Given the description of an element on the screen output the (x, y) to click on. 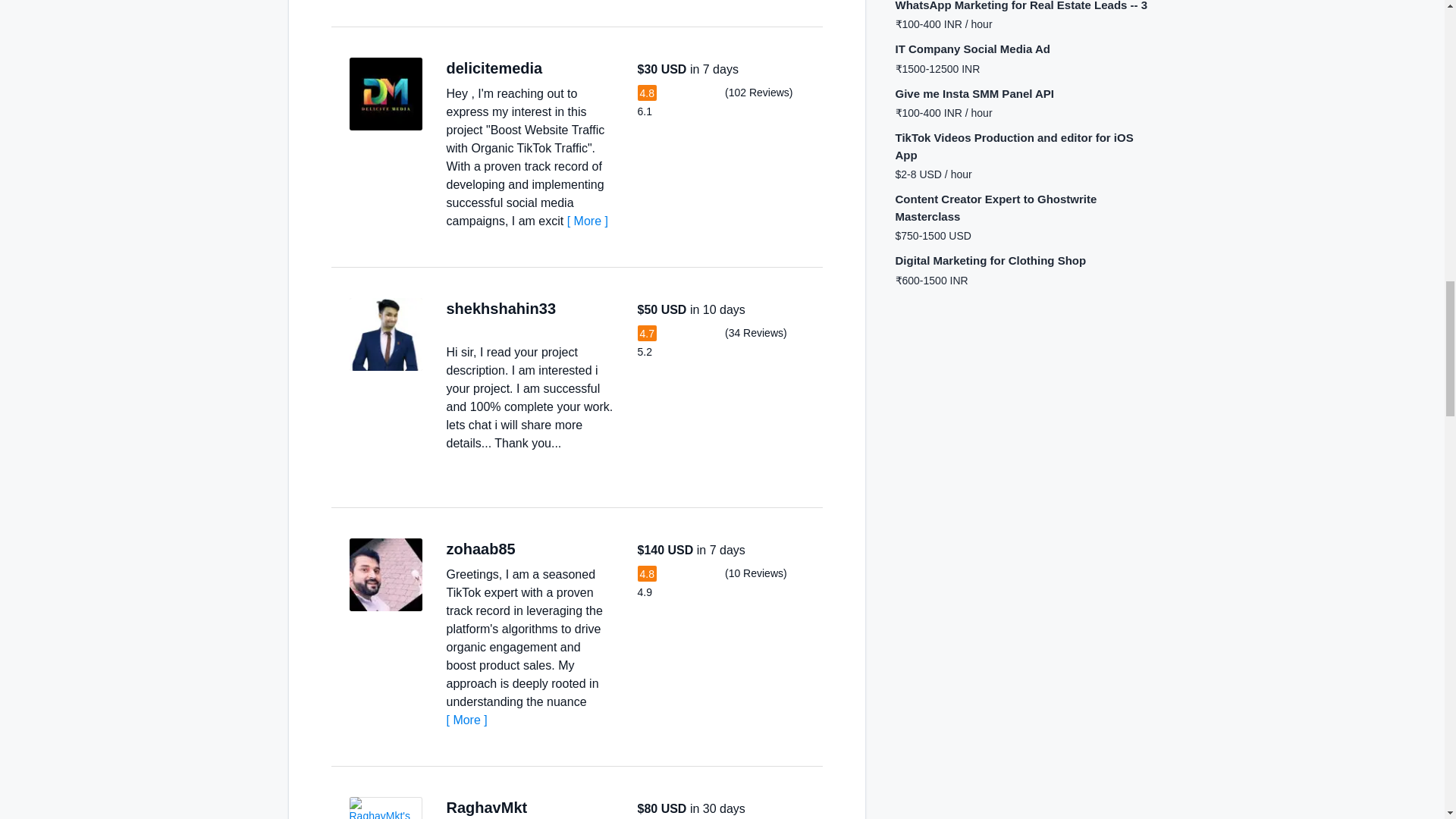
zohaab85 (480, 548)
India (557, 68)
View shekhshahin33's Profile (385, 334)
shekhshahin33 (500, 308)
India (542, 808)
RaghavMkt (486, 807)
Bangladesh (571, 308)
More (465, 719)
View delicitemedia's Profile (385, 93)
More (587, 220)
